Given the description of an element on the screen output the (x, y) to click on. 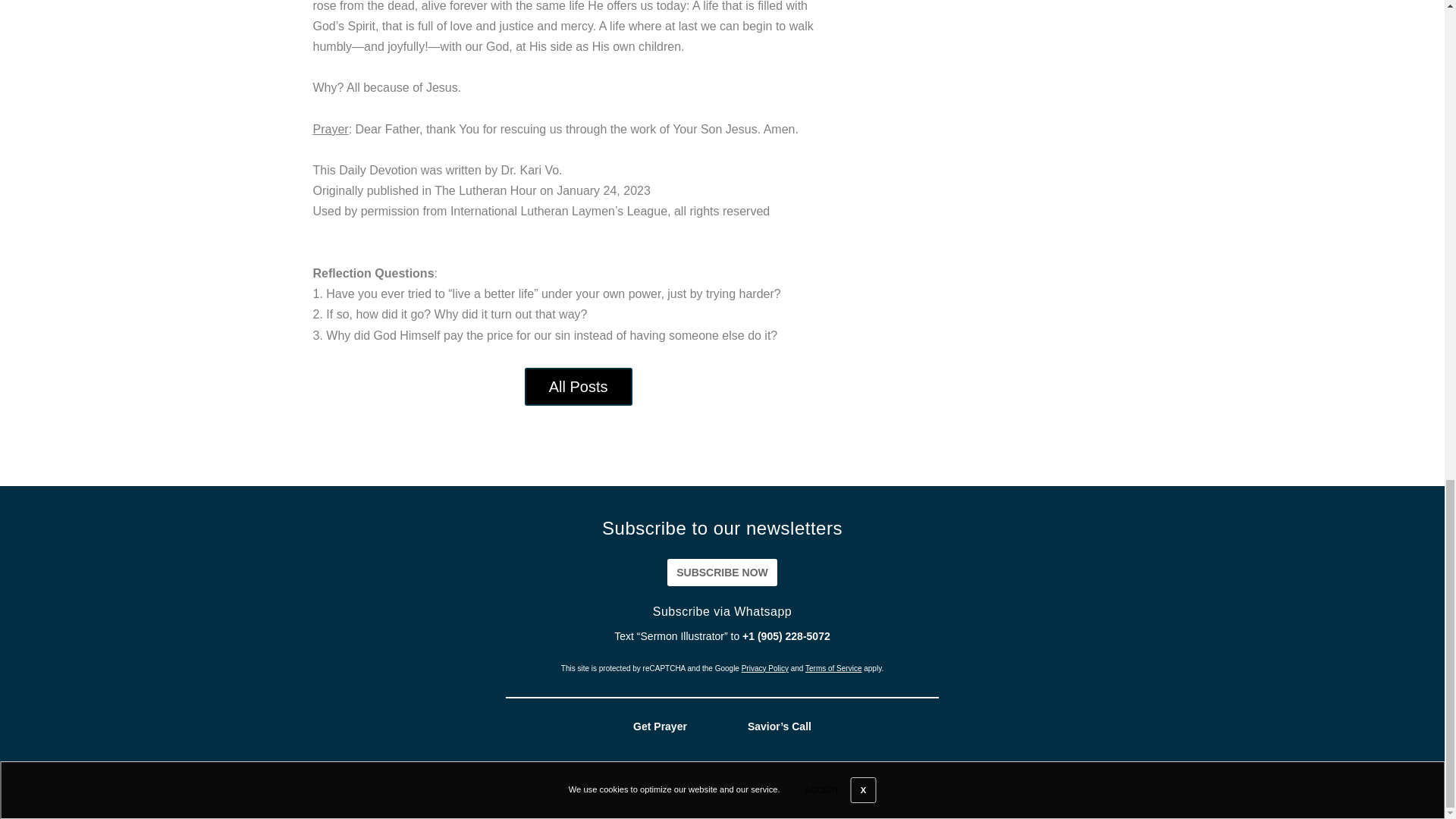
Terms of Service (833, 668)
Privacy Policy (765, 668)
All Posts (577, 386)
Subscribe now (721, 572)
Contact Us (1387, 793)
Get Prayer (659, 726)
Answers2Prayer (873, 793)
Subscribe now (721, 572)
